Given the description of an element on the screen output the (x, y) to click on. 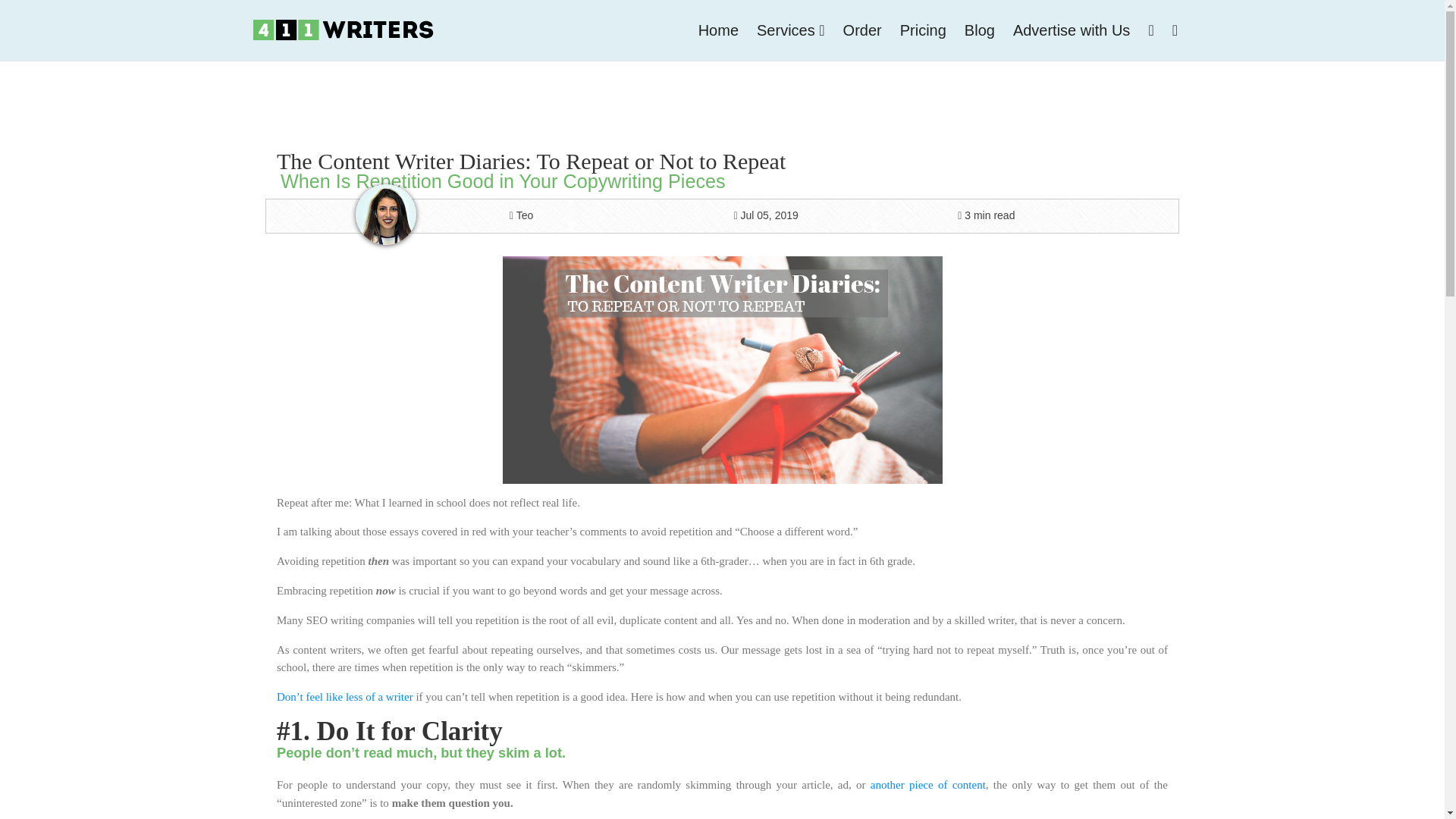
The Content Writer Diaries (722, 370)
Let Us Write a Story About Your Business (1072, 30)
Services Pricing (923, 30)
Services Offered by 411Writers (791, 30)
Fighting The Impostor Syndrom (344, 696)
411Writers (718, 30)
Advertise with Us (1072, 30)
another piece of content (927, 784)
411Writers Blog (979, 30)
Pricing (923, 30)
